Given the description of an element on the screen output the (x, y) to click on. 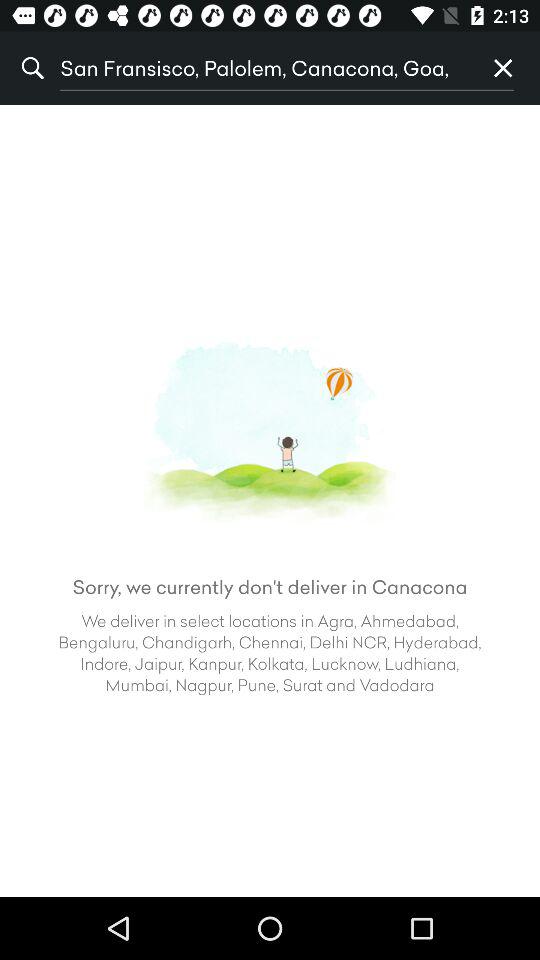
select the icon to the left of p icon (263, 68)
